Given the description of an element on the screen output the (x, y) to click on. 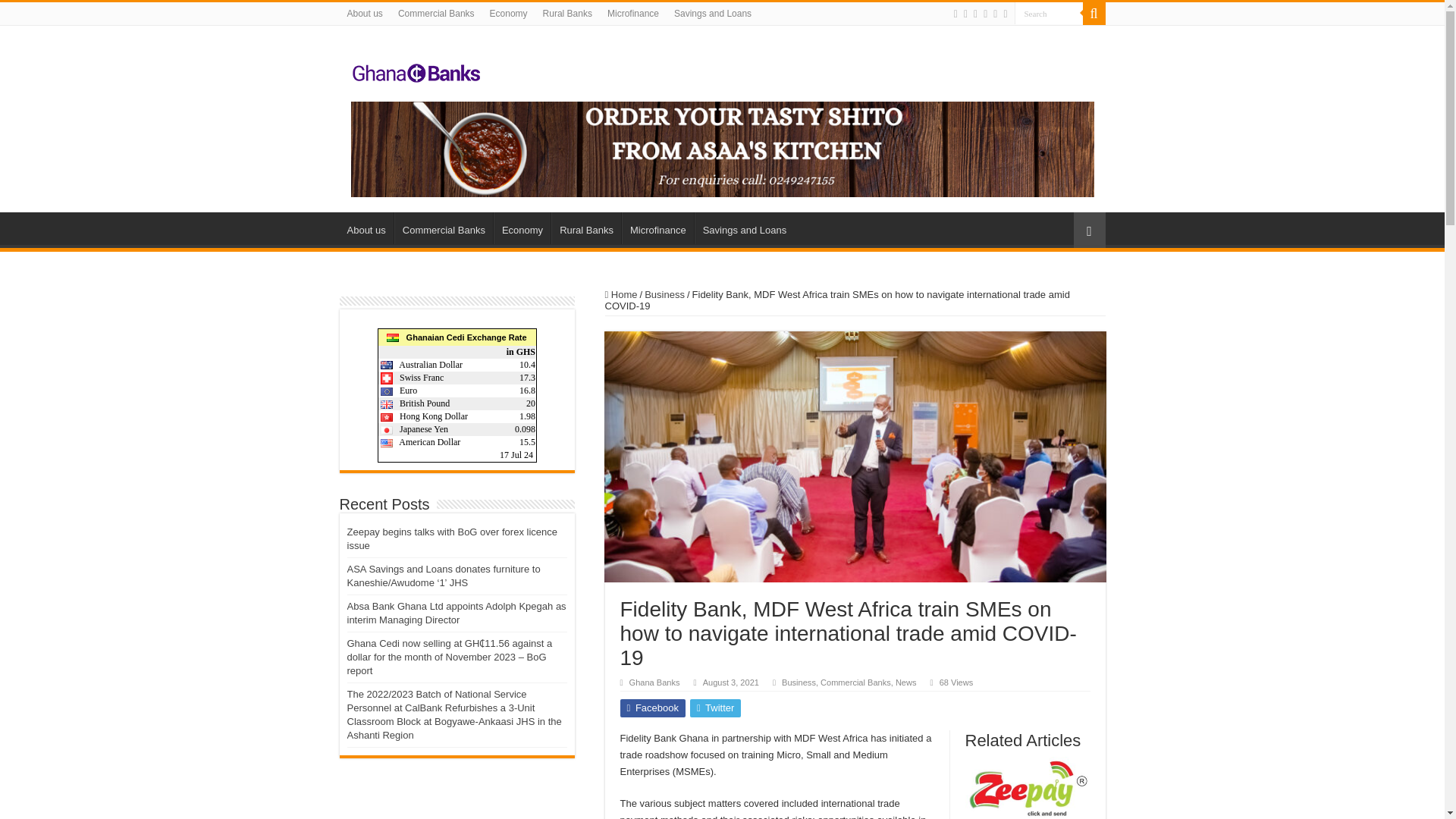
Twitter (975, 13)
Search (1094, 13)
About us (364, 13)
Microfinance (657, 228)
Facebook (965, 13)
instagram (1005, 13)
Foursquare (994, 13)
Commercial Banks (443, 228)
Rural Banks (586, 228)
Economy (508, 13)
Search (1048, 13)
Economy (521, 228)
Search (1048, 13)
Microfinance (632, 13)
Pinterest (984, 13)
